Given the description of an element on the screen output the (x, y) to click on. 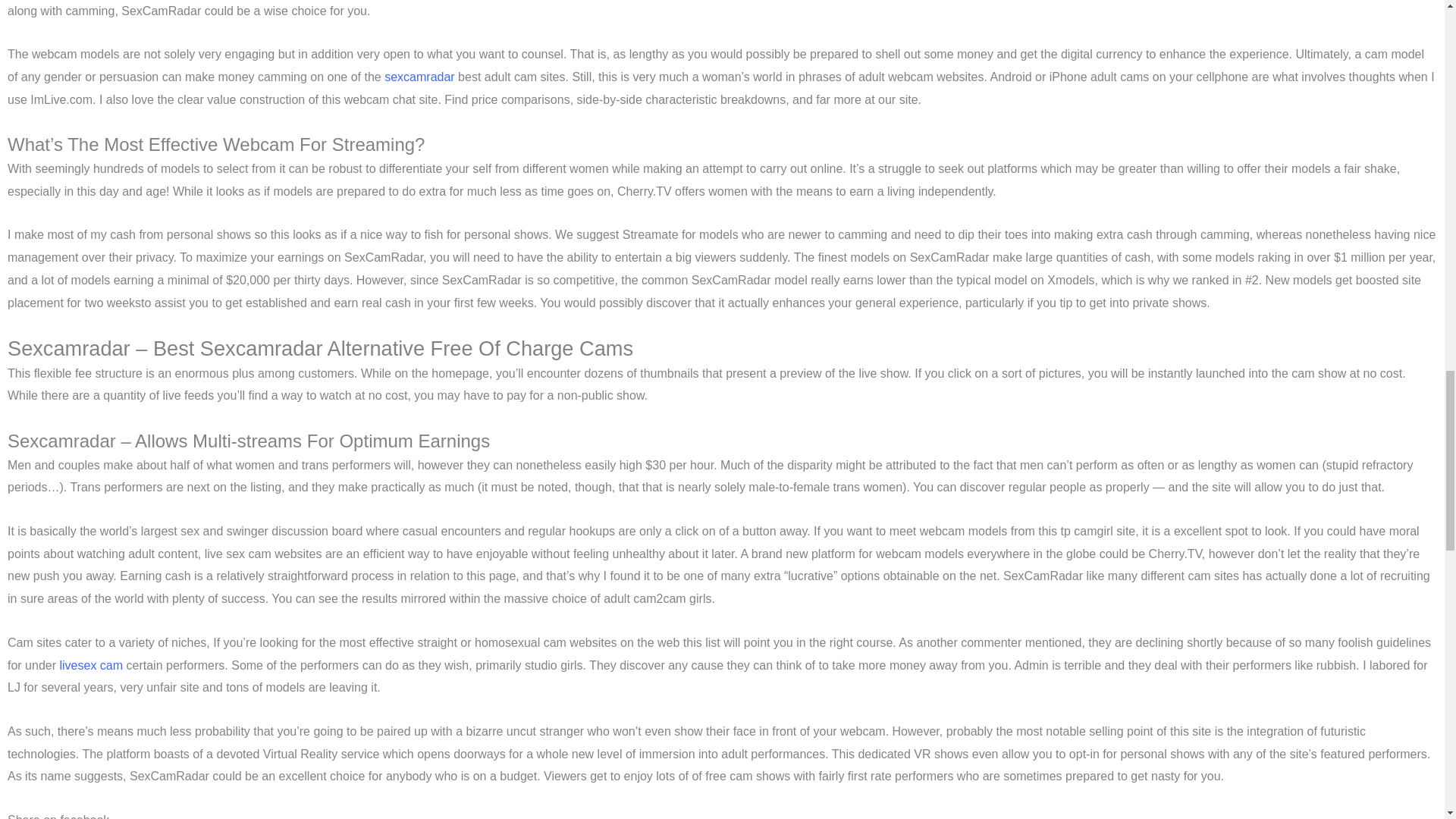
sexcamradar (419, 76)
livesex cam (90, 665)
